Given the description of an element on the screen output the (x, y) to click on. 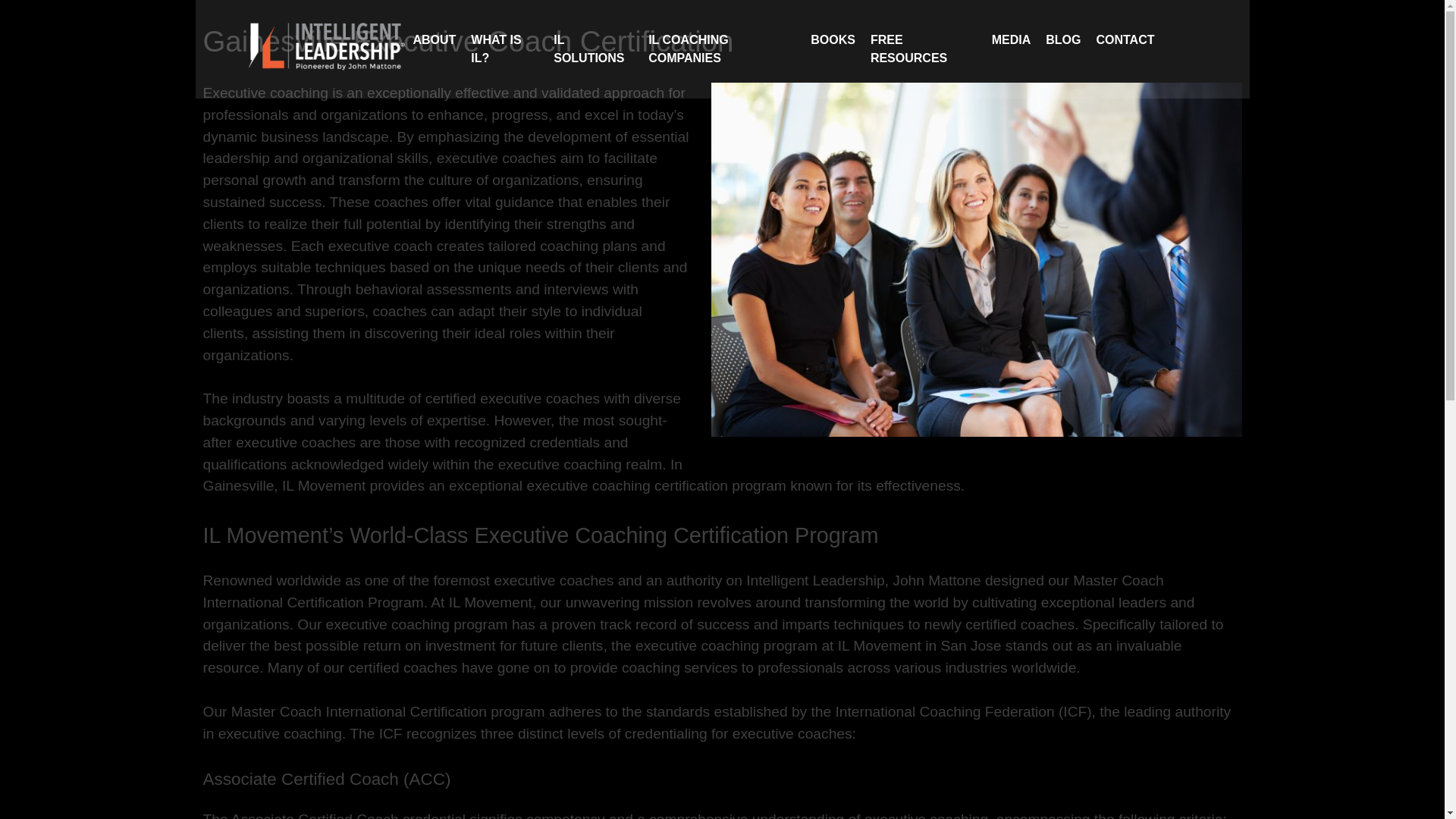
ABOUT (433, 40)
IL COACHING COMPANIES (720, 49)
IL SOLUTIONS (593, 49)
FREE RESOURCES (923, 49)
MEDIA (1010, 40)
WHAT IS IL? (504, 49)
BOOKS (833, 40)
CONTACT (1125, 40)
BLOG (1062, 40)
